Given the description of an element on the screen output the (x, y) to click on. 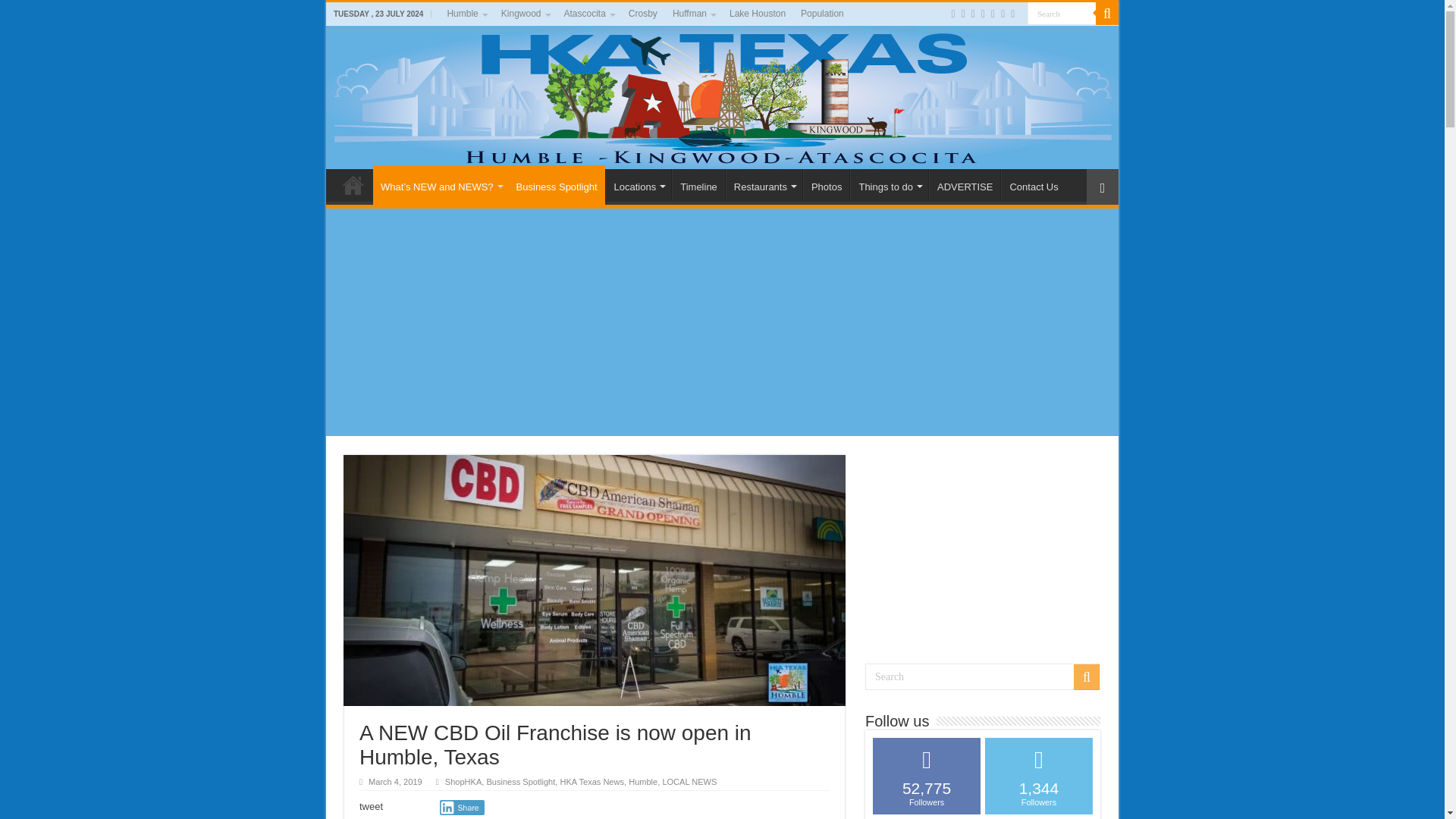
Facebook (962, 13)
Search (1061, 13)
Twitter (972, 13)
Search (1061, 13)
Search (982, 676)
Search (1061, 13)
Rss (952, 13)
